Given the description of an element on the screen output the (x, y) to click on. 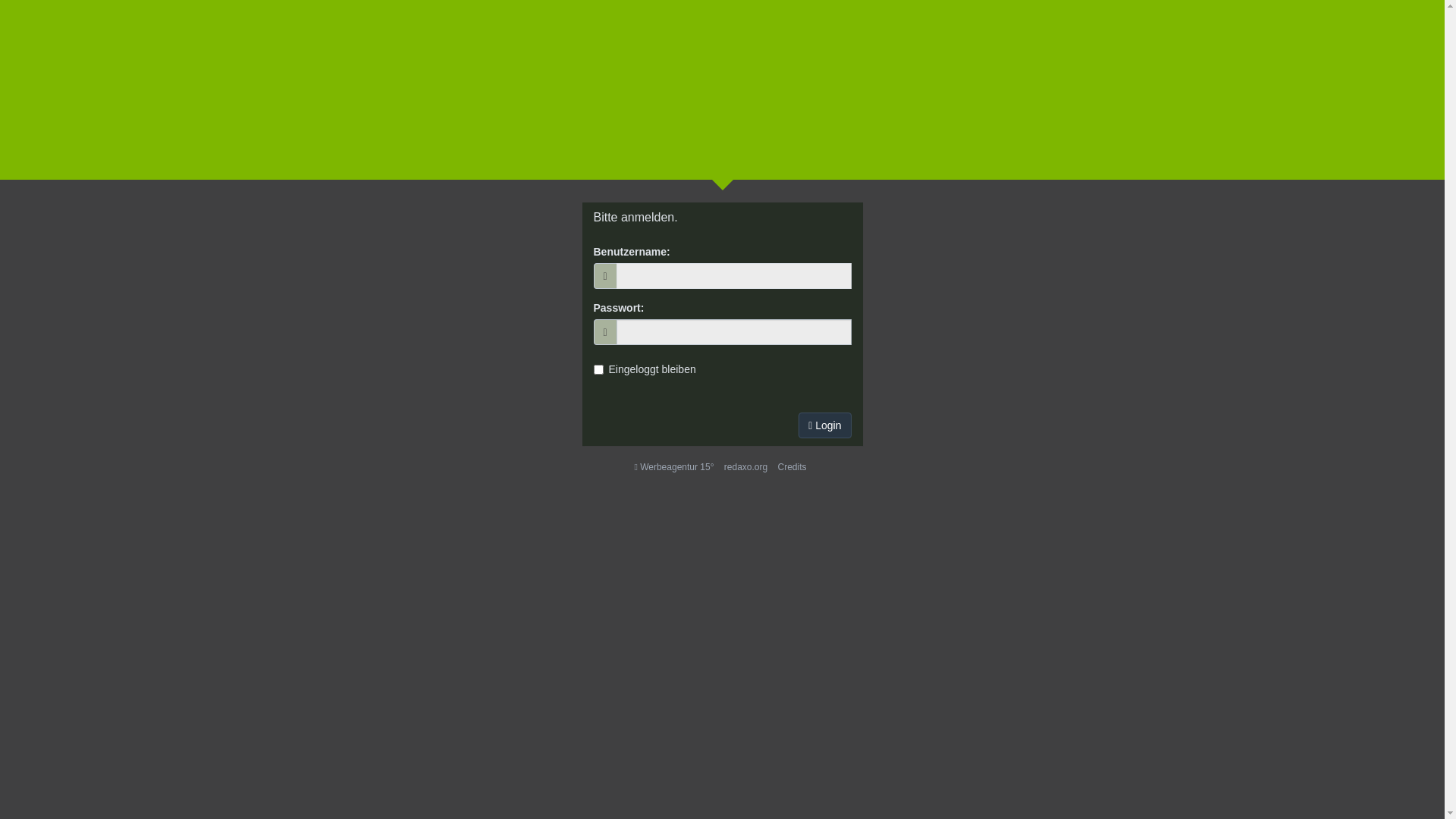
Login Element type: text (824, 425)
Credits Element type: text (792, 466)
redaxo.org Element type: text (745, 466)
